Given the description of an element on the screen output the (x, y) to click on. 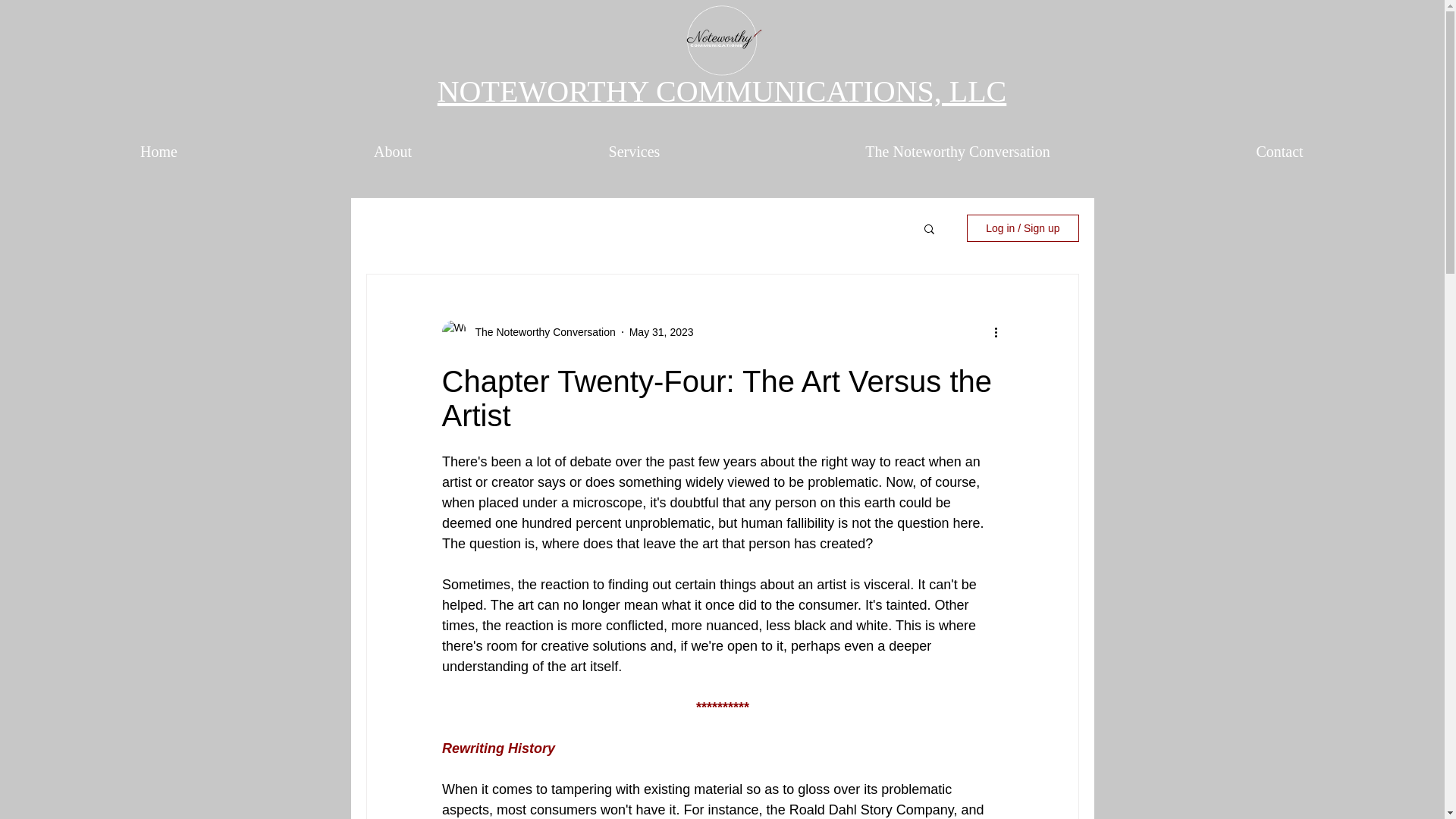
NOTEWORTHY COMMUNICATIONS, LLC (722, 90)
Contact (1279, 151)
About (392, 151)
The Noteworthy Conversation (957, 151)
May 31, 2023 (661, 331)
The Noteworthy Conversation (539, 332)
Services (633, 151)
Home (159, 151)
